Given the description of an element on the screen output the (x, y) to click on. 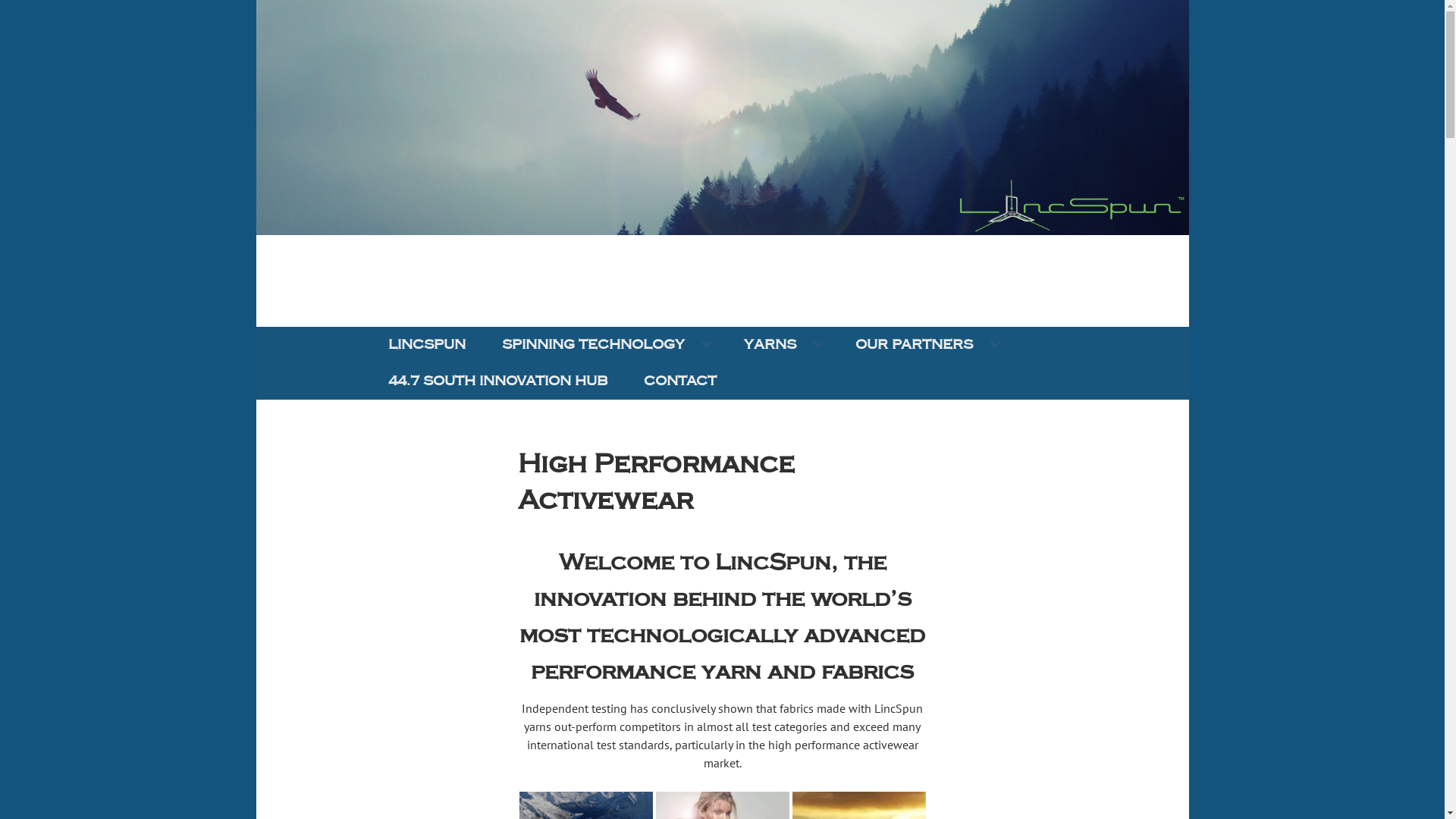
44.7 SOUTH INNOVATION HUB Element type: text (497, 381)
YARNS Element type: text (780, 344)
LINCSPUN Element type: text (426, 344)
OUR PARTNERS Element type: text (925, 344)
CONTACT Element type: text (679, 381)
LINCSPUN GROUP Element type: text (506, 328)
SPINNING TECHNOLOGY Element type: text (604, 344)
